Given the description of an element on the screen output the (x, y) to click on. 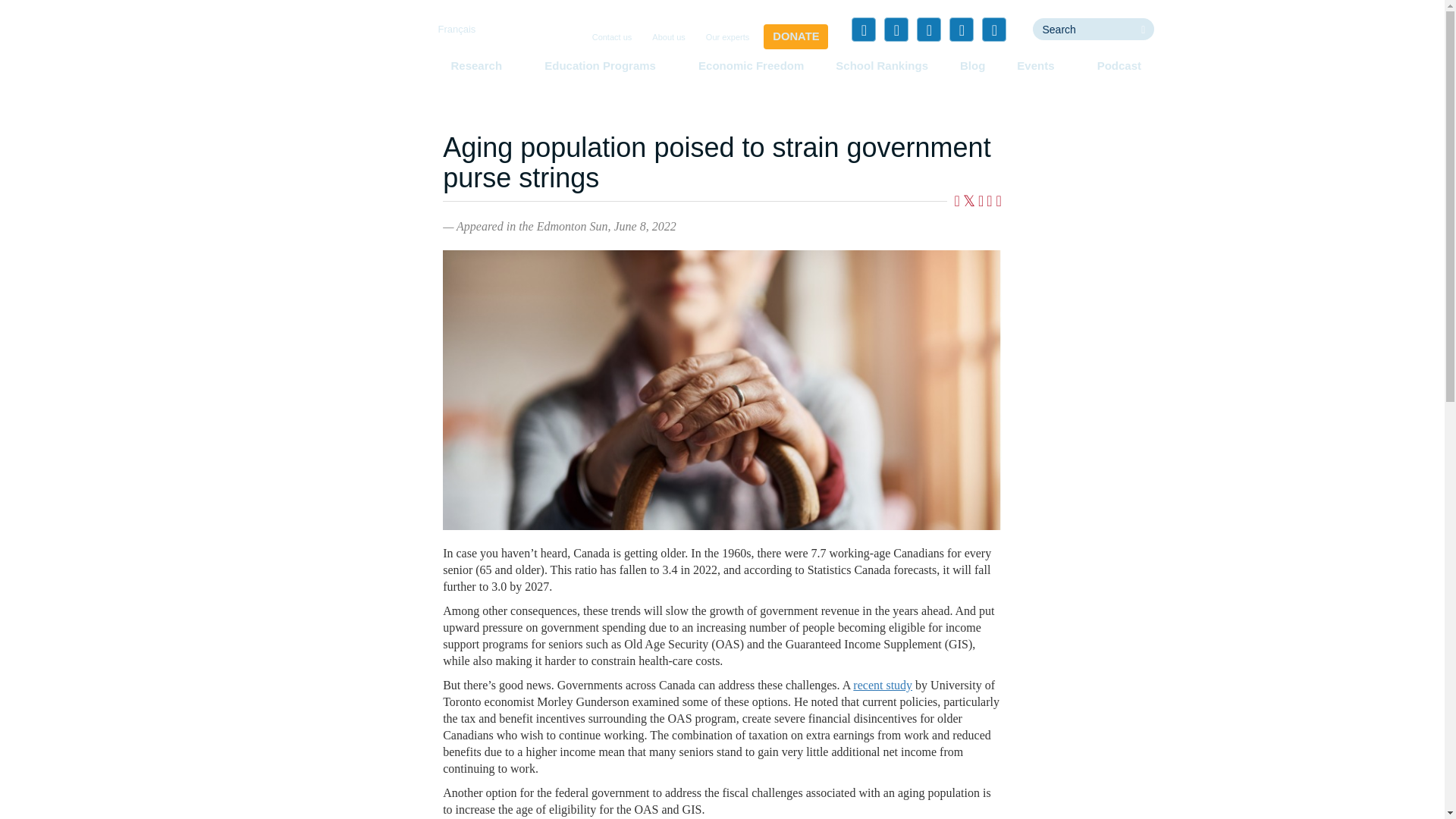
Instagram (993, 29)
YouTube (961, 29)
Home (352, 56)
Research (481, 65)
DONATE (795, 36)
School Rankings (882, 65)
Our experts (727, 37)
Enter the terms you wish to search for. (1082, 29)
Contact us (612, 37)
Twitter (895, 29)
About us (668, 37)
LinkedIn (928, 29)
Facebook (863, 29)
